Given the description of an element on the screen output the (x, y) to click on. 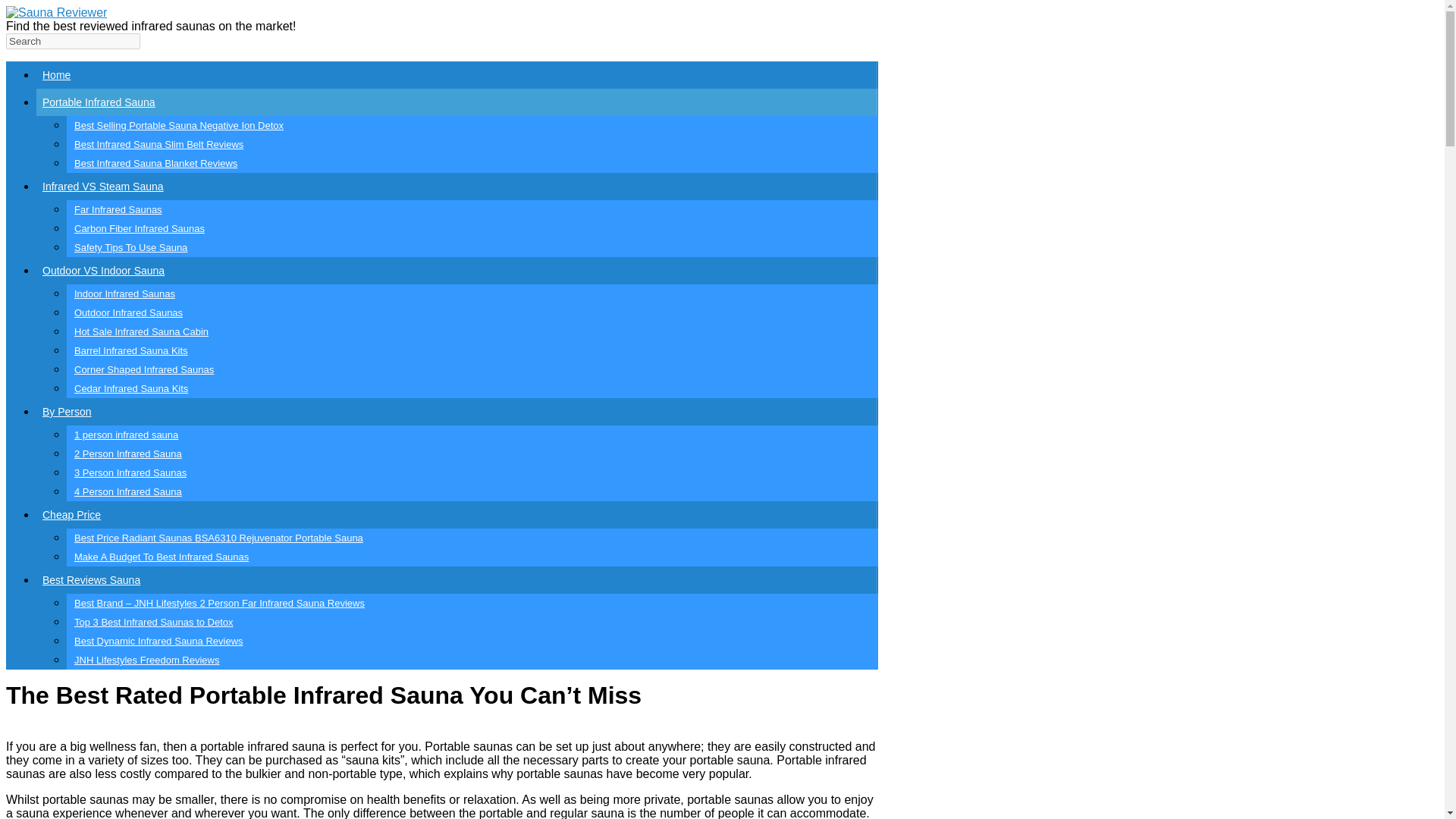
Infrared VS Steam Sauna (456, 185)
By Person (456, 411)
Home (456, 74)
Outdoor Infrared Saunas (471, 312)
Barrel Infrared Sauna Kits (471, 350)
Best Infrared Sauna Blanket Reviews (471, 162)
4 Person Infrared Sauna (471, 491)
Best Selling Portable Sauna Negative Ion Detox (471, 125)
Carbon Fiber Infrared Saunas (471, 228)
Best Price Radiant Saunas BSA6310 Rejuvenator Portable Sauna (471, 537)
Far Infrared Saunas (471, 209)
JNH Lifestyles Freedom Reviews (471, 659)
Search (72, 41)
Portable Infrared Sauna (456, 102)
Top 3 Best Infrared Saunas to Detox (471, 621)
